Given the description of an element on the screen output the (x, y) to click on. 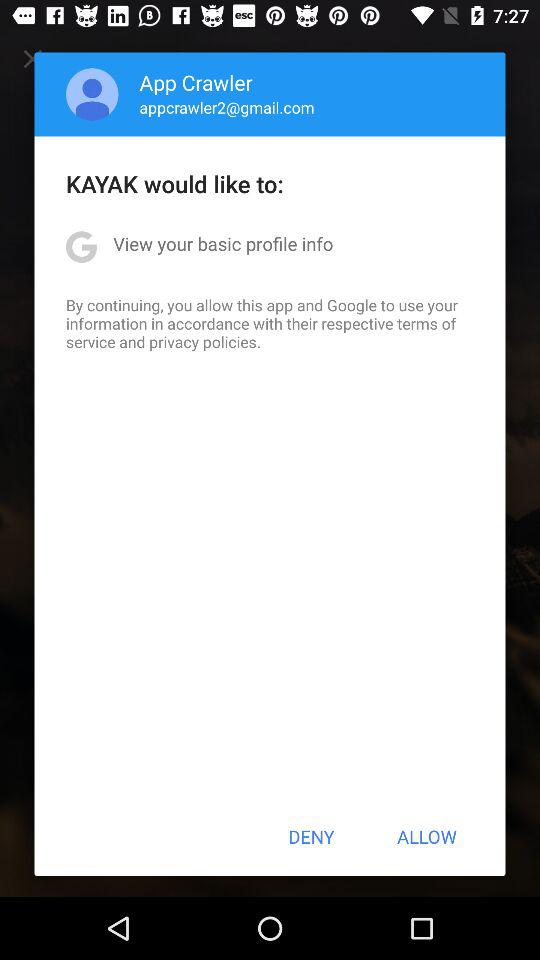
turn on icon to the left of the app crawler icon (92, 94)
